Given the description of an element on the screen output the (x, y) to click on. 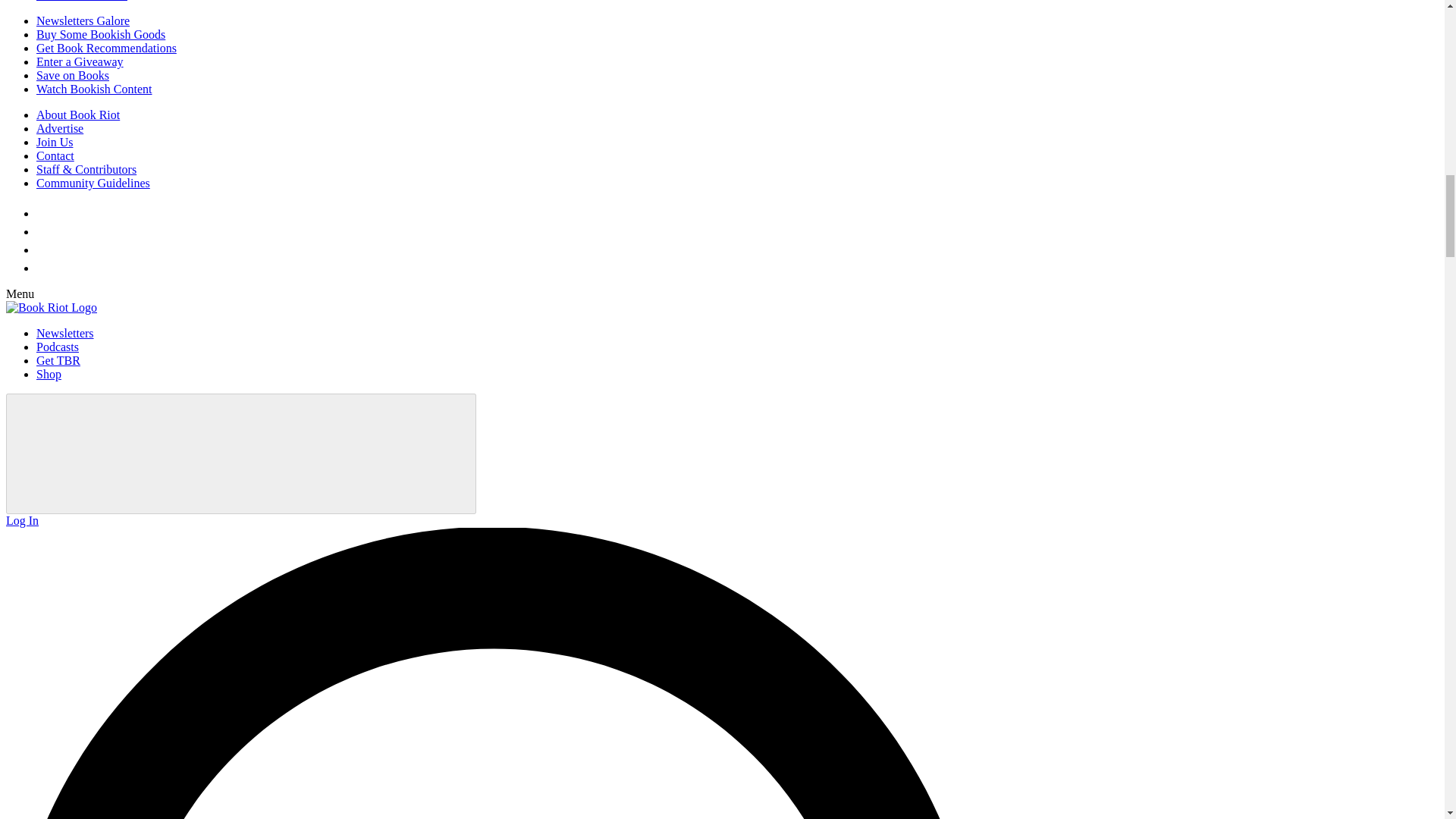
Newsletters Galore (82, 20)
Save on Books (72, 74)
Contact (55, 155)
Enter a Giveaway (79, 61)
Watch Bookish Content (93, 88)
Shop (48, 373)
Community Guidelines (92, 182)
Get Book Recommendations (106, 47)
Newsletters (65, 332)
Buy Some Bookish Goods (100, 33)
Advertise (59, 128)
Podcasts (57, 346)
Get TBR (58, 359)
About Book Riot (77, 114)
Join Us (54, 141)
